Given the description of an element on the screen output the (x, y) to click on. 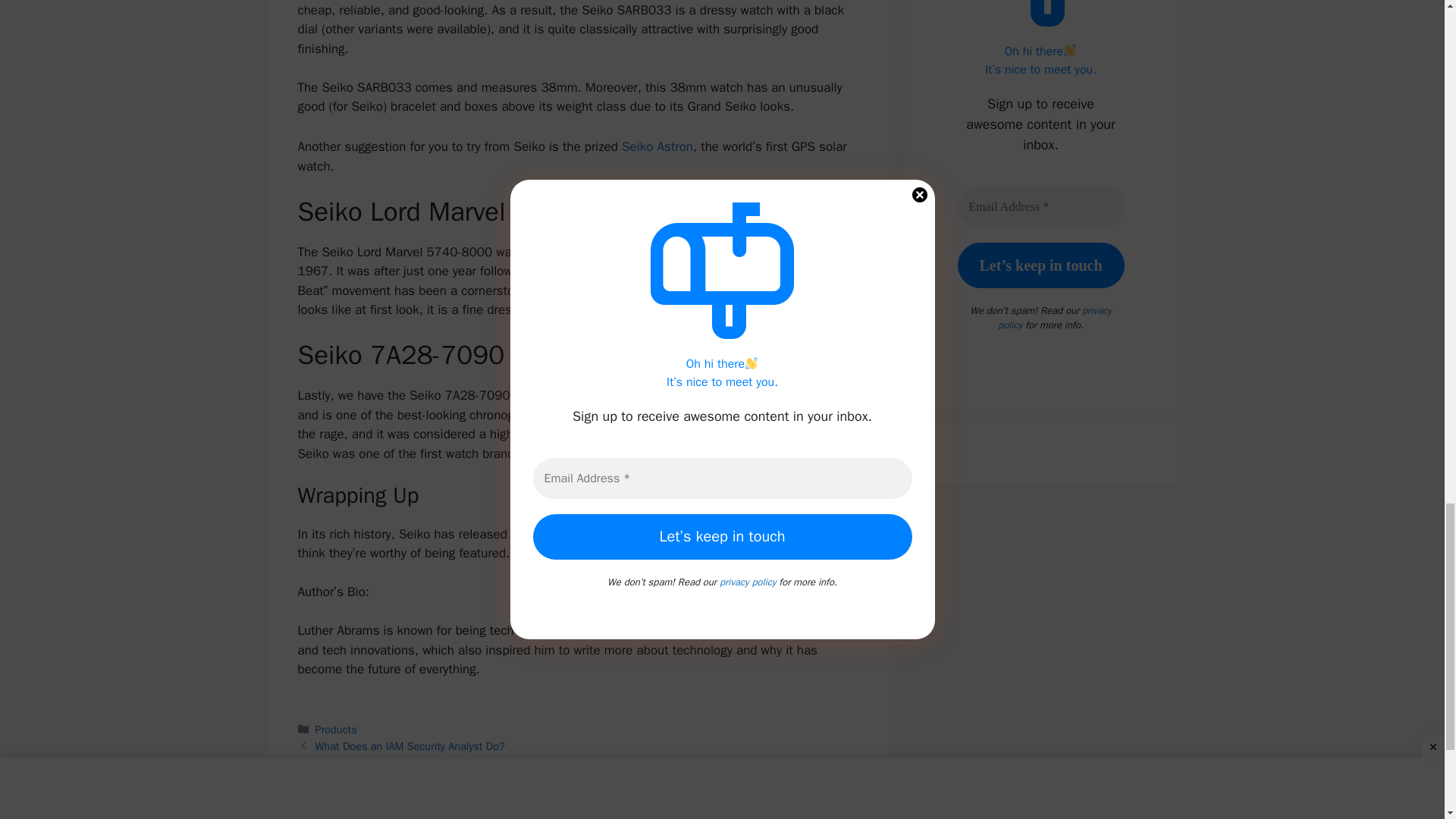
Products (335, 729)
What Does an IAM Security Analyst Do? (410, 745)
Seiko Astron (657, 146)
How to Create an Effective Study Plan for CCNA Exam (442, 762)
privacy policy (1053, 317)
